Given the description of an element on the screen output the (x, y) to click on. 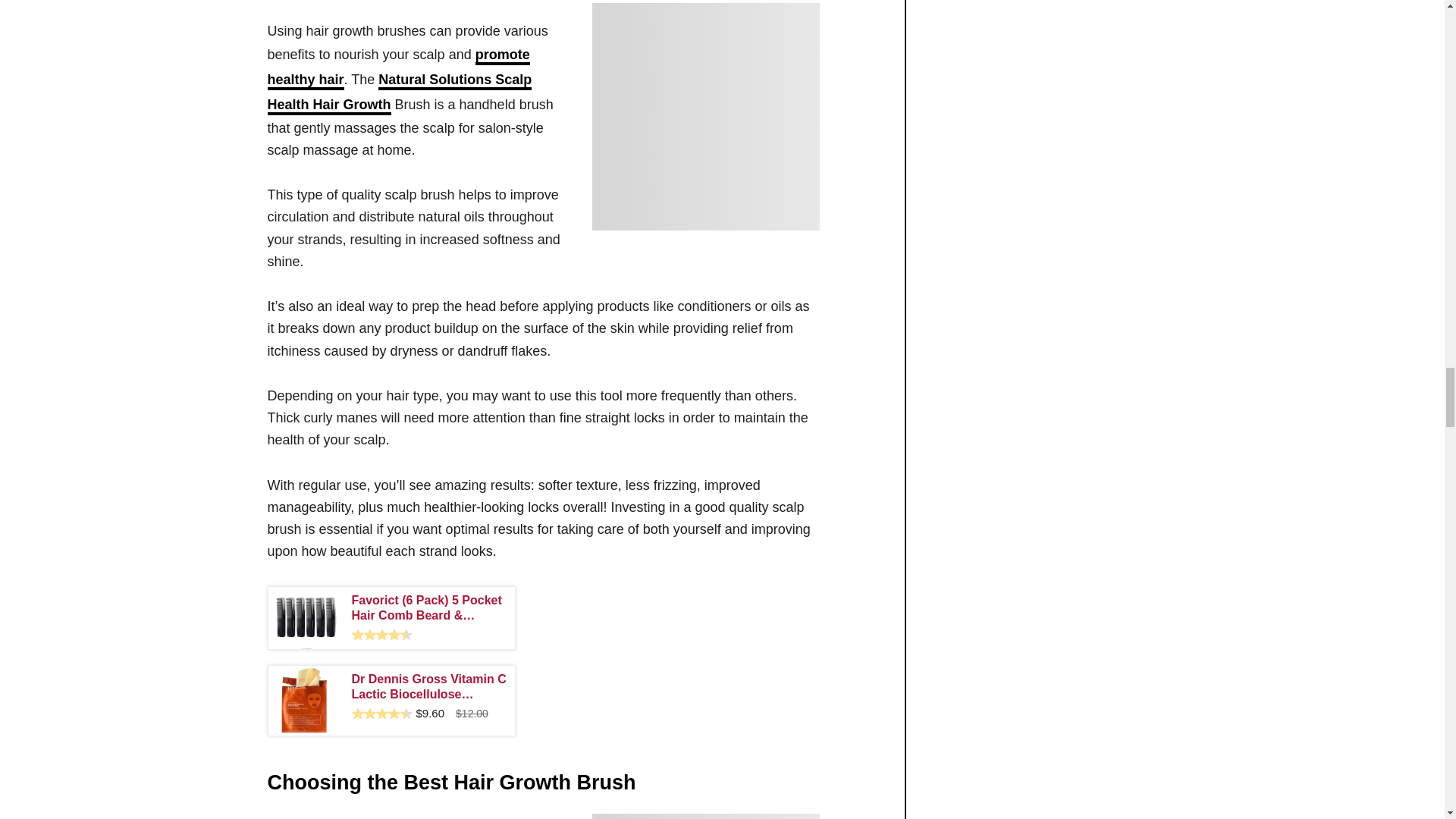
promote healthy hair (397, 68)
